Given the description of an element on the screen output the (x, y) to click on. 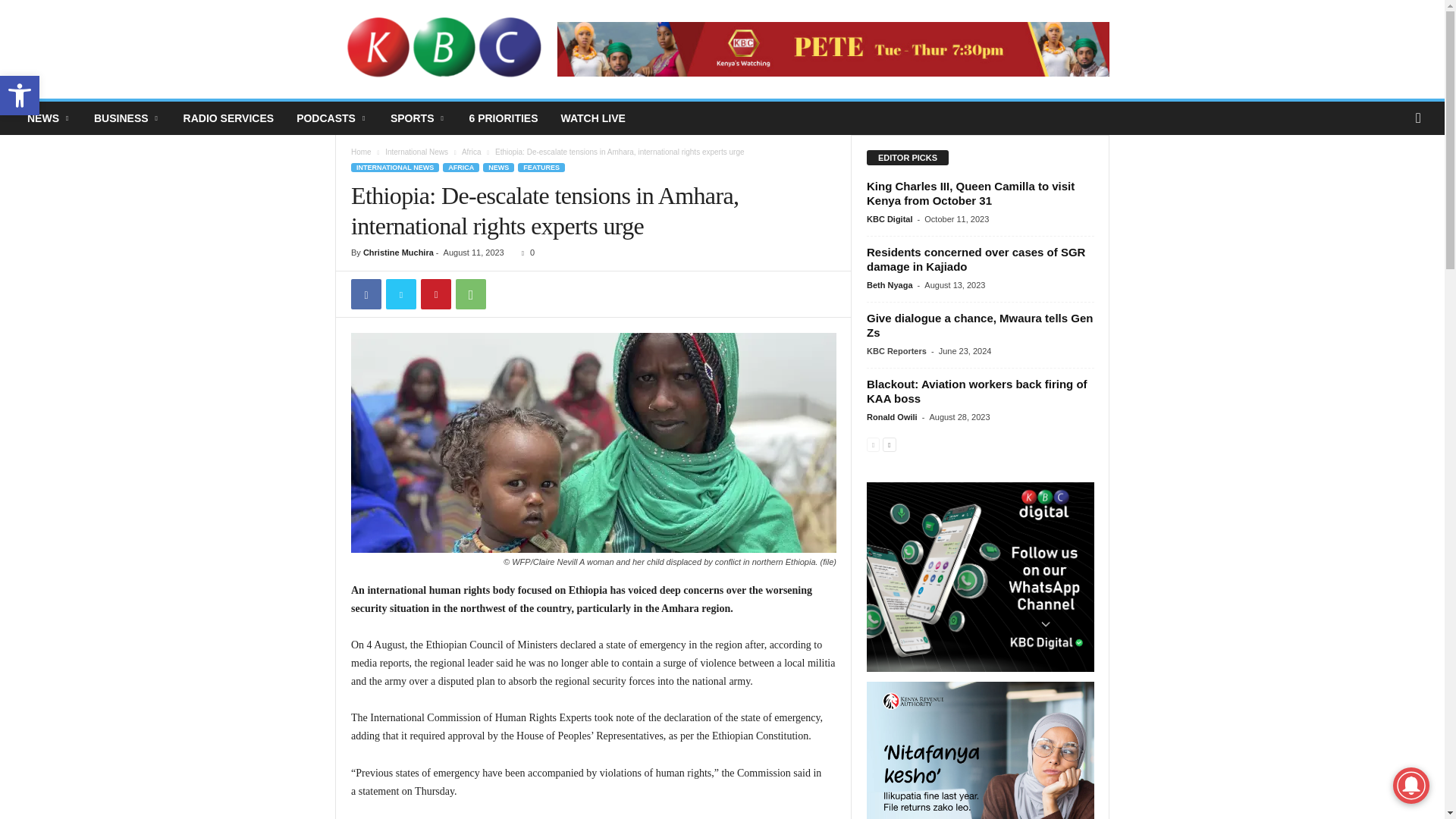
Accessibility Tools (19, 95)
Accessibility Tools (19, 95)
